Given the description of an element on the screen output the (x, y) to click on. 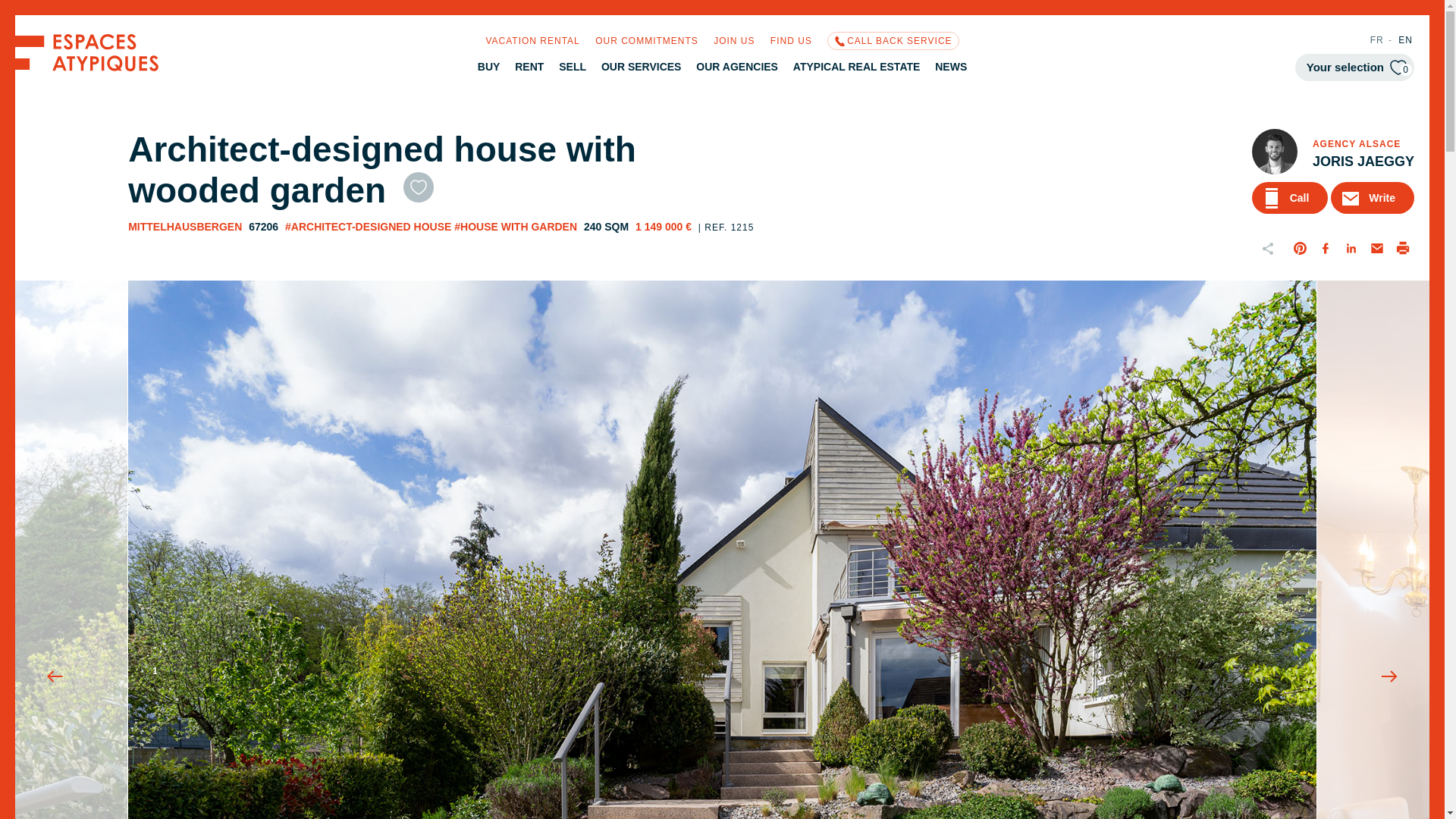
RENT (529, 66)
BUY (488, 66)
VACATION RENTAL (531, 40)
Ajouter aux favoris (418, 186)
Espaces Atypiques (86, 67)
CALL BACK SERVICE (892, 40)
OUR COMMITMENTS (1354, 67)
FIND US (646, 40)
FR (791, 40)
JOIN US (1377, 40)
